Given the description of an element on the screen output the (x, y) to click on. 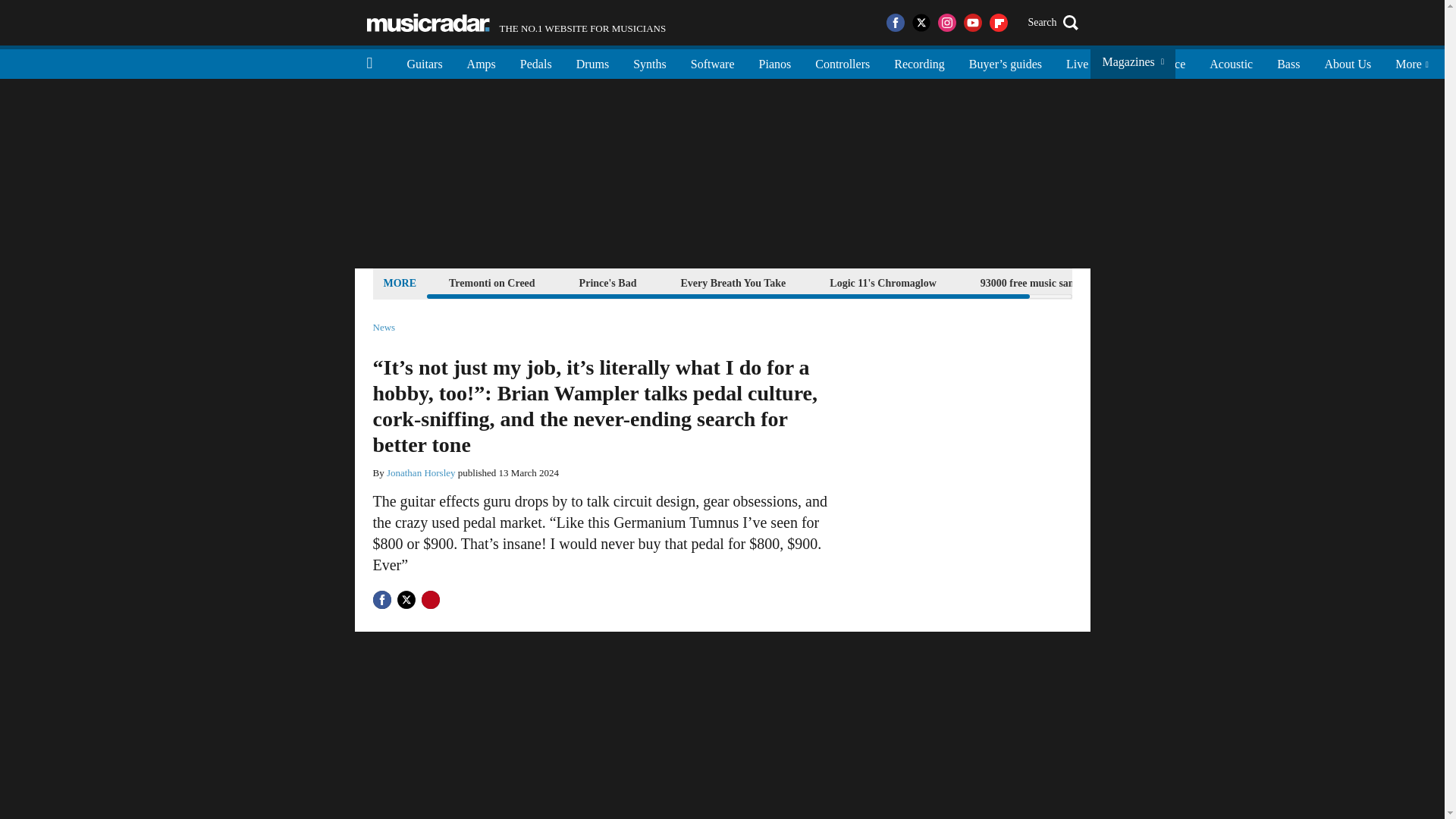
Recording (919, 61)
DJ (1119, 61)
Controllers (842, 61)
Software (712, 61)
Prince's Bad (607, 282)
Bass (1288, 61)
93000 free music samples (516, 22)
Guitars (1037, 282)
Music Radar (424, 61)
Live (427, 22)
About Us (1077, 61)
Drums (1347, 61)
Pedals (592, 61)
Pianos (536, 61)
